Given the description of an element on the screen output the (x, y) to click on. 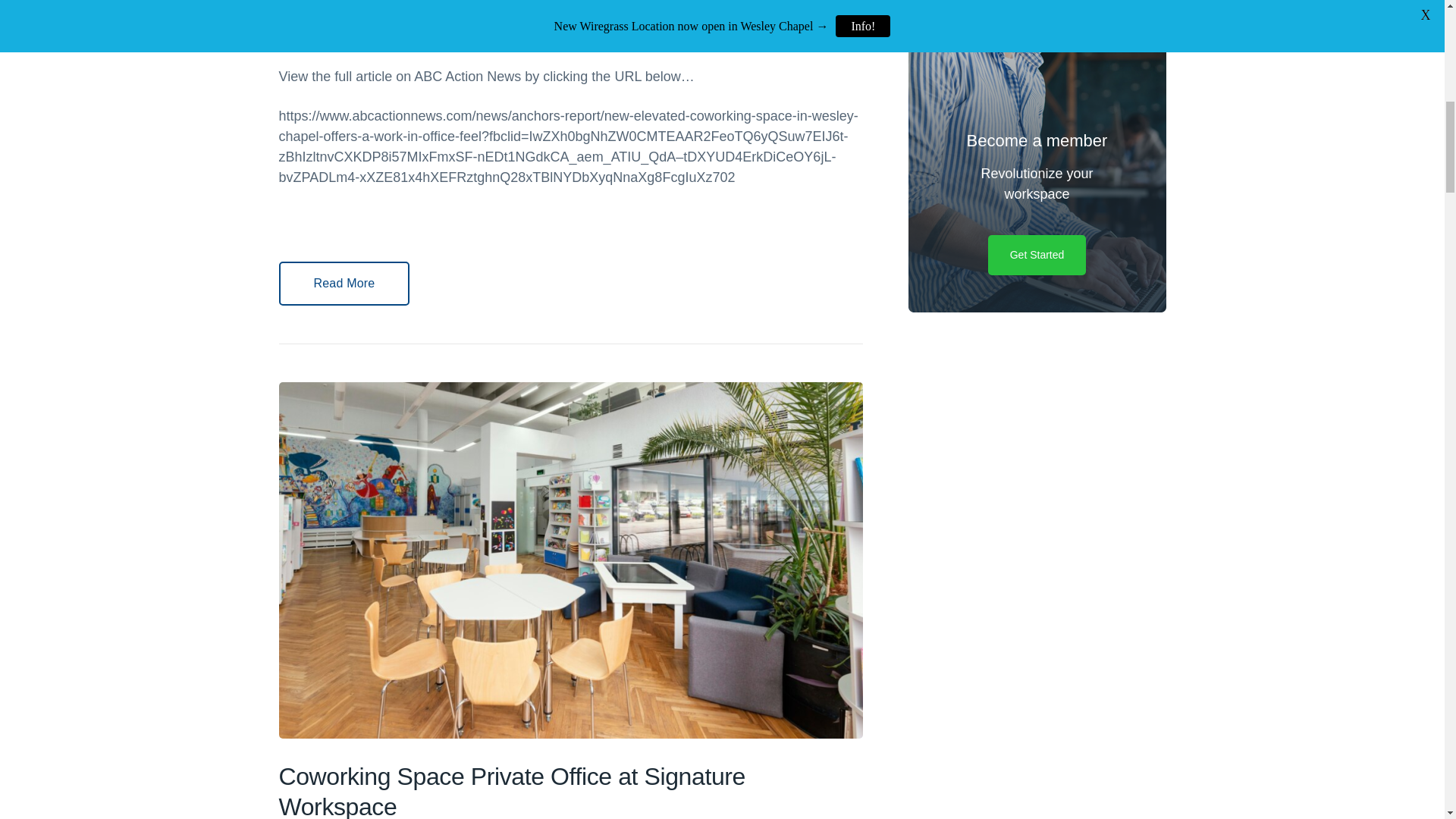
Read More (344, 283)
Read More (344, 283)
Coworking Space Private Office at Signature Workspace (512, 790)
